Given the description of an element on the screen output the (x, y) to click on. 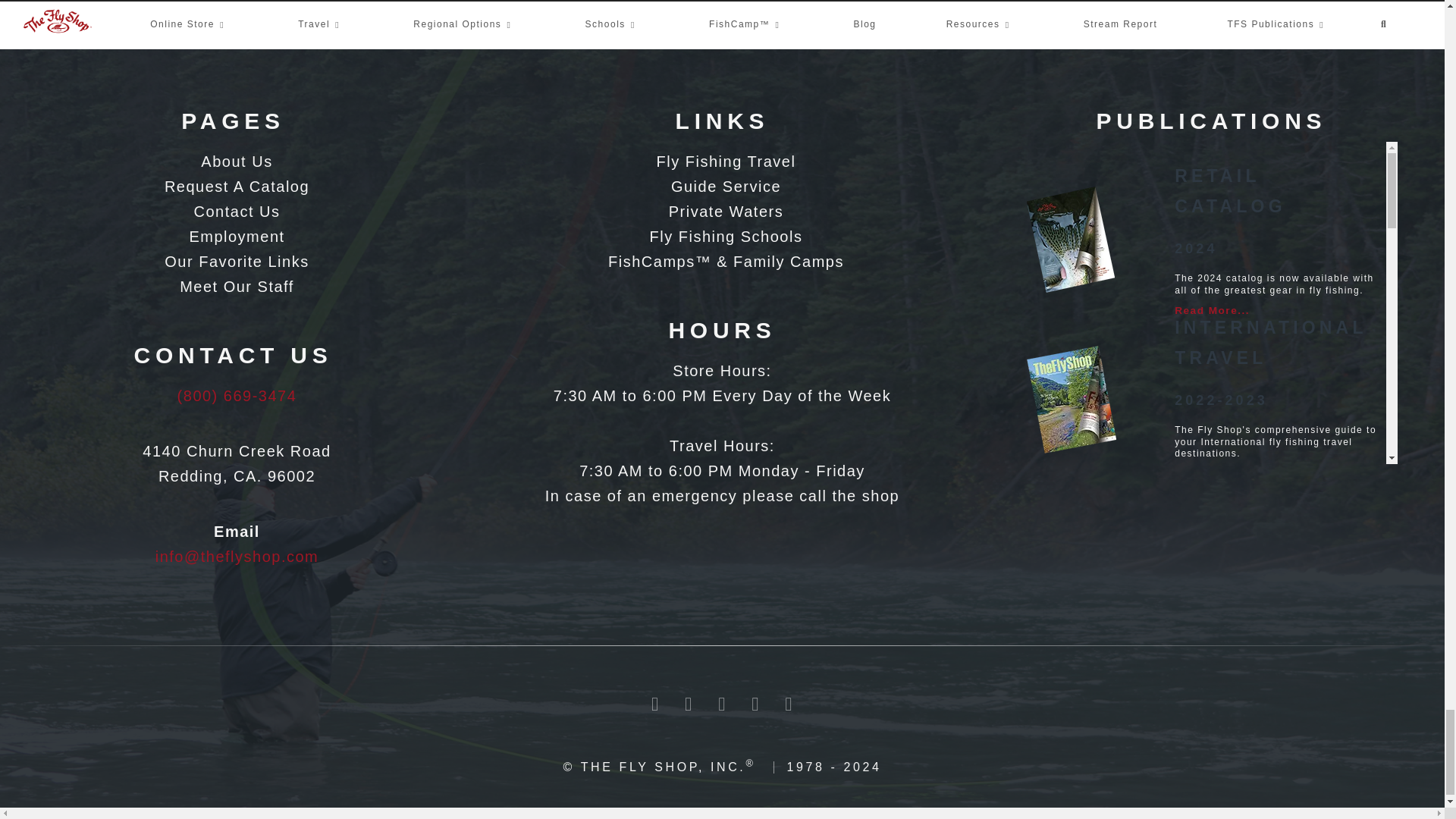
Retail Catalog - 2024 (1072, 241)
N. California Planner - 2024 Planner (1072, 701)
TFS page (232, 286)
TFS page (232, 261)
Telephone Number (237, 395)
TFS page (232, 211)
TFS page (232, 161)
Fly Tying - 2024 Catalog (1072, 535)
International Travel - 2022-2023 (1072, 399)
TFS page (232, 236)
TFS page (232, 186)
